Given the description of an element on the screen output the (x, y) to click on. 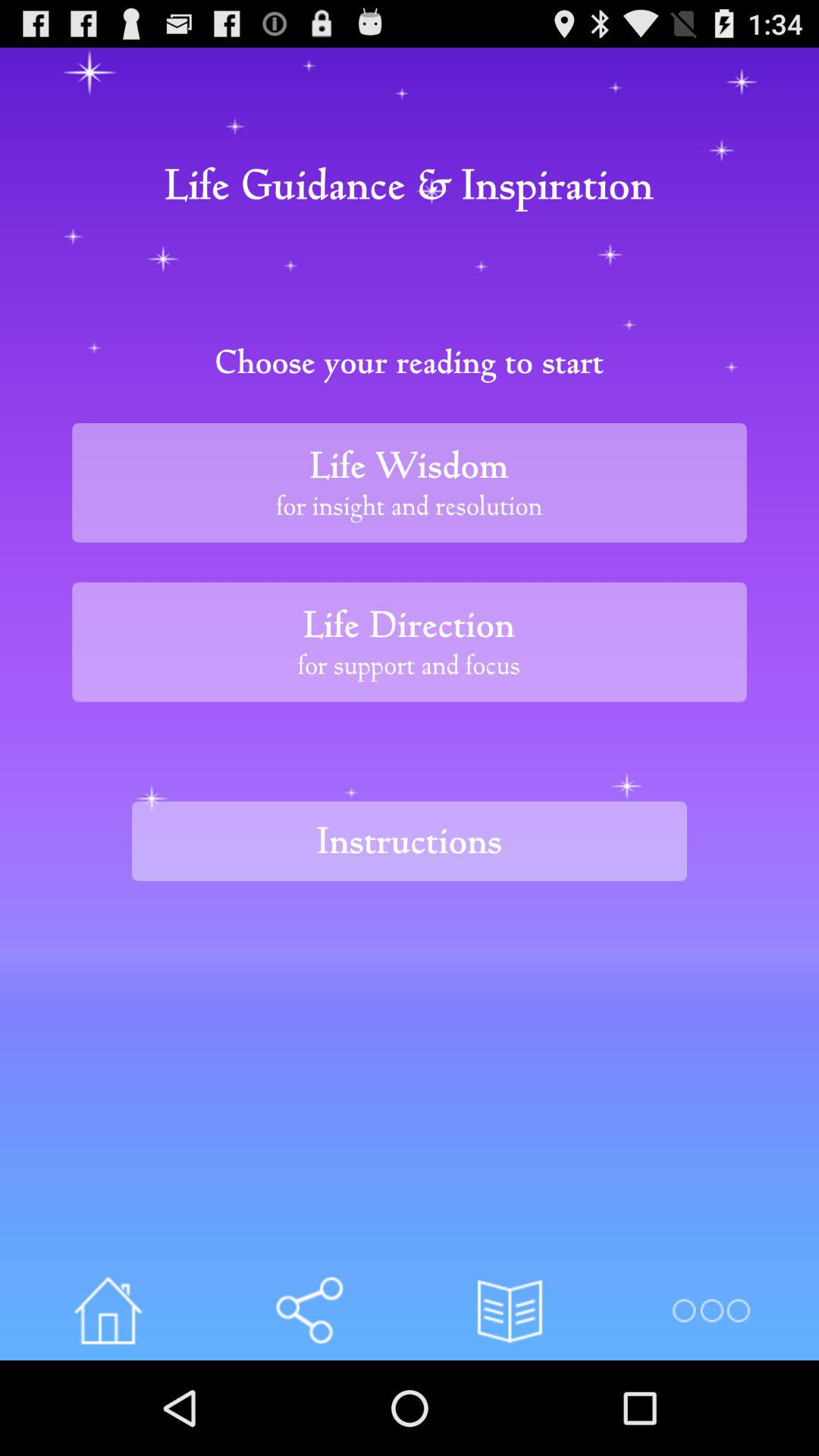
open readings (509, 1310)
